Given the description of an element on the screen output the (x, y) to click on. 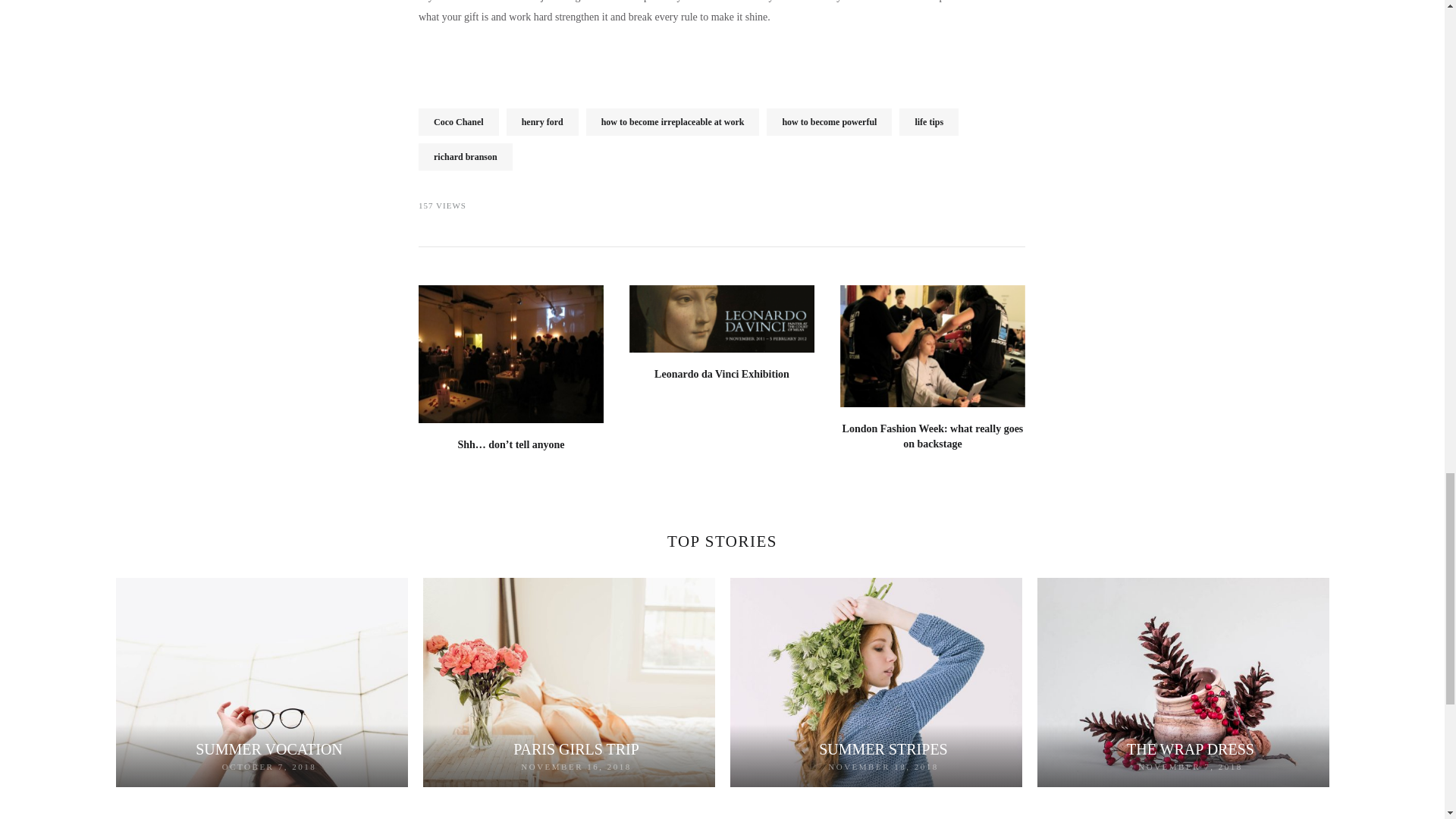
Summer Stripes (882, 749)
Coco Chanel (459, 121)
London Fashion Week: what really goes on backstage (933, 436)
how to become powerful (829, 121)
how to become irreplaceable at work (673, 121)
Paris girls trip (576, 749)
Summer Vocation (268, 749)
The Wrap Dress (1189, 749)
life tips (928, 121)
Leonardo da Vinci Exhibition (721, 374)
henry ford (542, 121)
richard branson (465, 156)
